Given the description of an element on the screen output the (x, y) to click on. 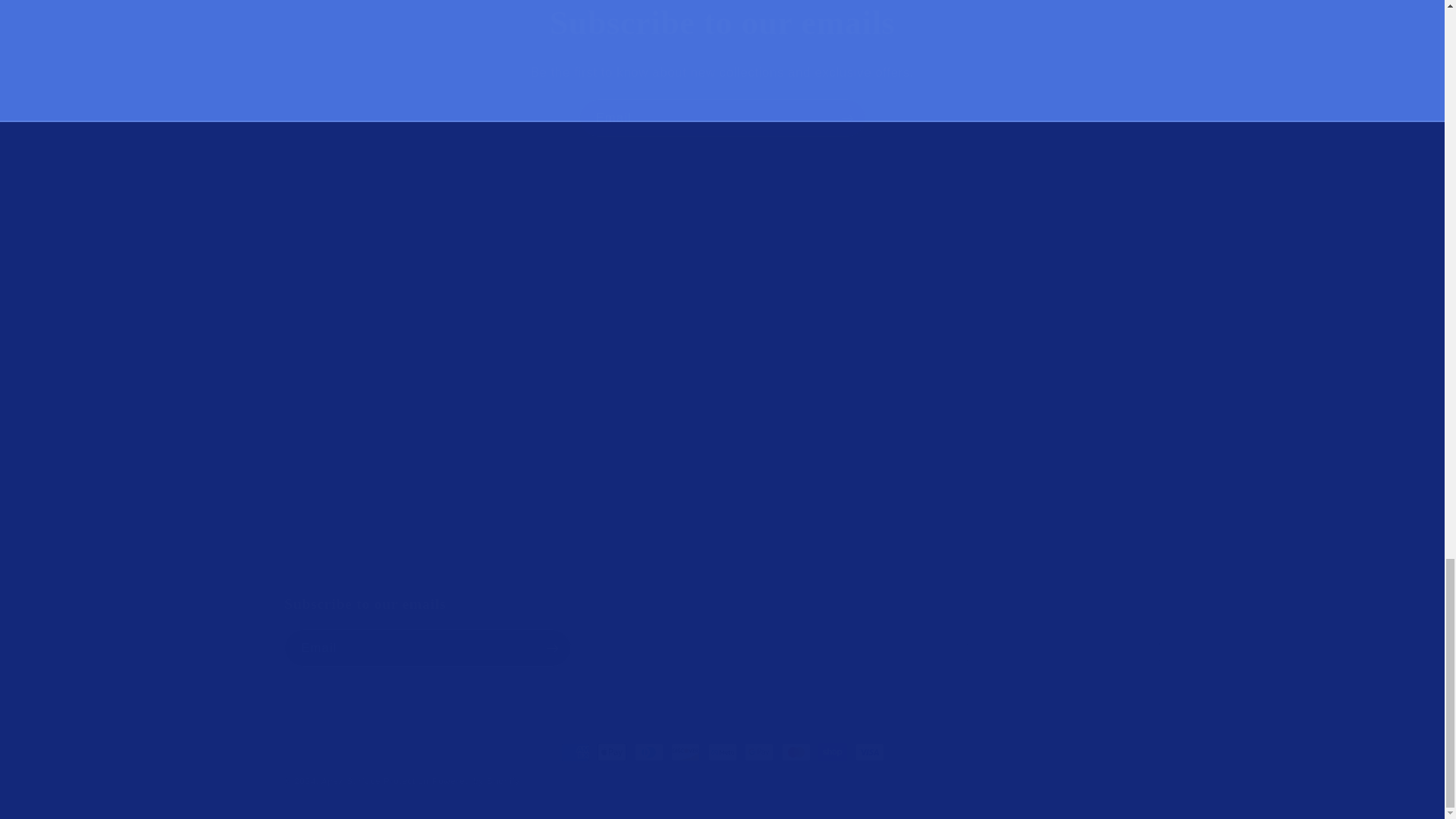
Email (722, 117)
Subscribe to our emails (721, 630)
